Given the description of an element on the screen output the (x, y) to click on. 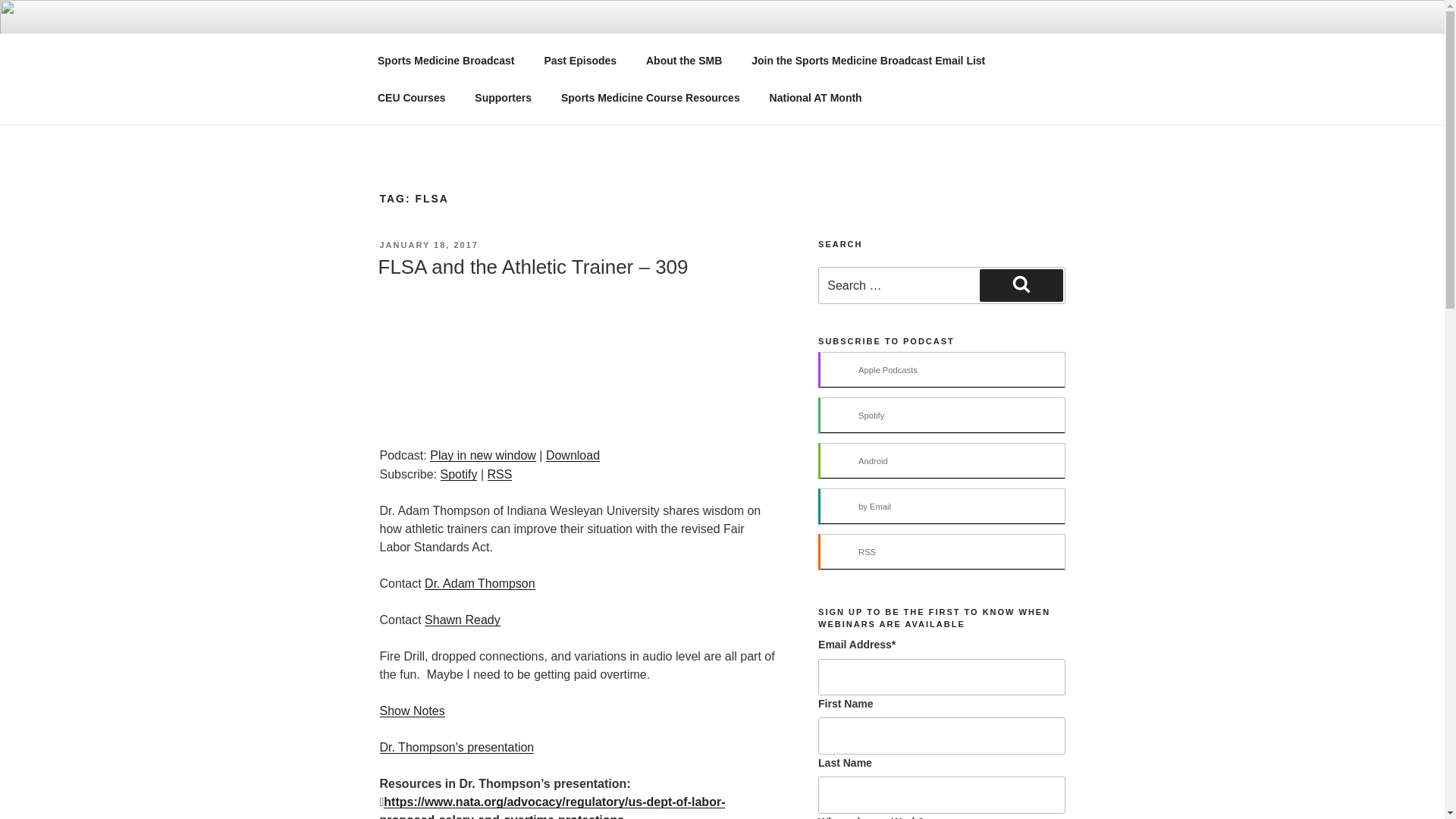
National AT Month (815, 97)
RSS (941, 551)
Sports Medicine Course Resources (649, 97)
THE SPORTS MEDICINE BROADCAST (659, 52)
Apple Podcasts (941, 370)
Sports Medicine Broadcast (445, 60)
Subscribe on Android (941, 461)
Subscribe on Spotify (459, 473)
Blubrry Podcast Player (577, 360)
About the SMB (683, 60)
